Given the description of an element on the screen output the (x, y) to click on. 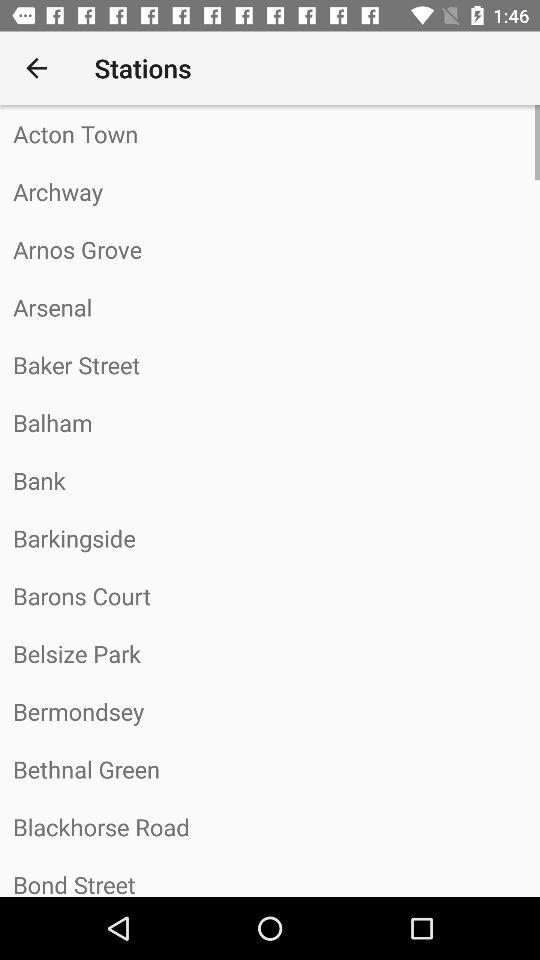
choose the item below arsenal (270, 364)
